Given the description of an element on the screen output the (x, y) to click on. 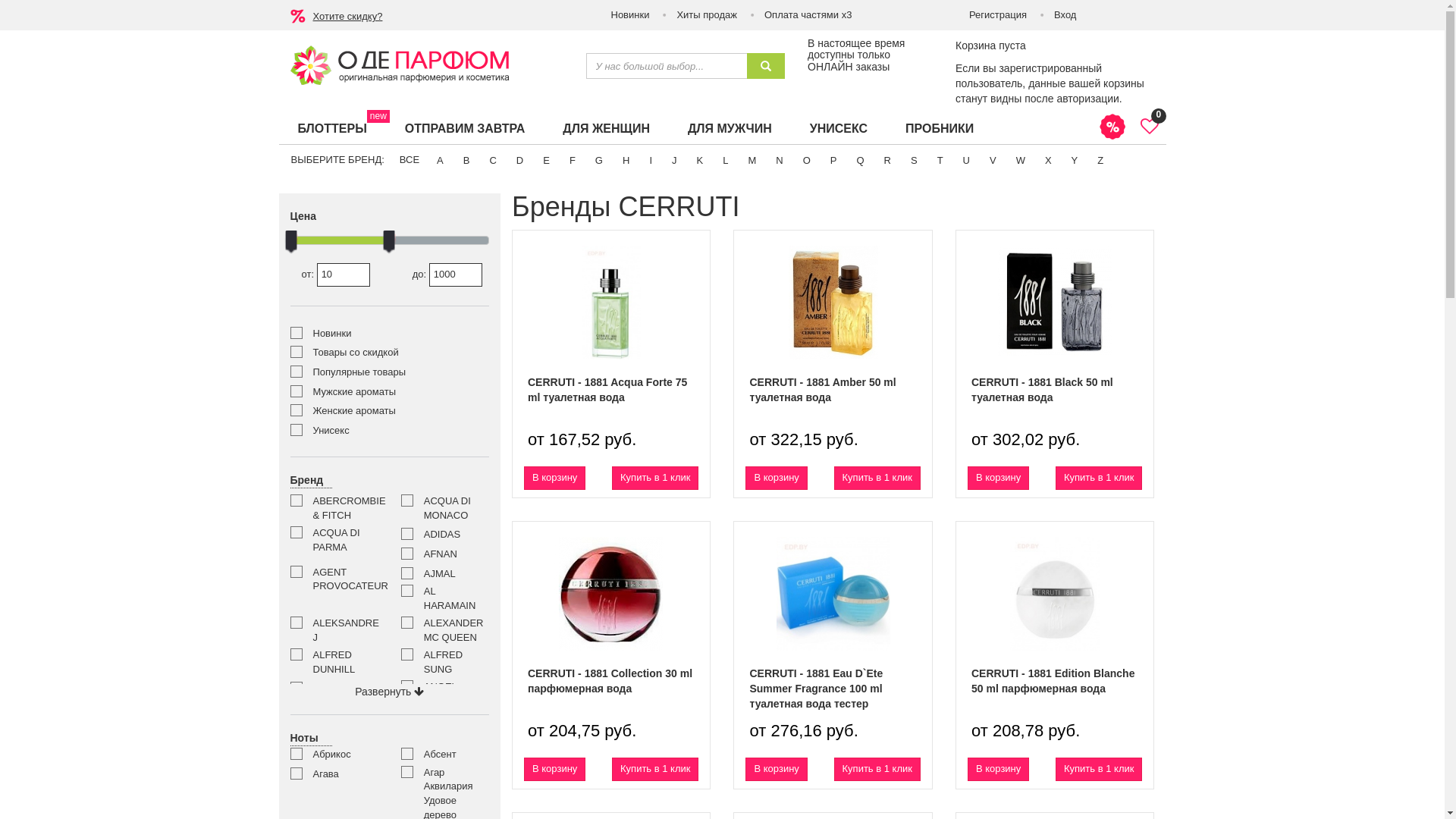
Q Element type: text (859, 160)
Z Element type: text (1100, 160)
E Element type: text (546, 160)
R Element type: text (887, 160)
N Element type: text (778, 160)
U Element type: text (966, 160)
D Element type: text (519, 160)
Y Element type: text (1074, 160)
T Element type: text (940, 160)
S Element type: text (913, 160)
J Element type: text (674, 160)
B Element type: text (466, 160)
K Element type: text (700, 160)
F Element type: text (572, 160)
A Element type: text (439, 160)
L Element type: text (724, 160)
X Element type: text (1048, 160)
V Element type: text (992, 160)
M Element type: text (751, 160)
0 Element type: text (1149, 126)
I Element type: text (650, 160)
P Element type: text (833, 160)
G Element type: text (598, 160)
H Element type: text (625, 160)
W Element type: text (1020, 160)
O Element type: text (806, 160)
C Element type: text (492, 160)
